Given the description of an element on the screen output the (x, y) to click on. 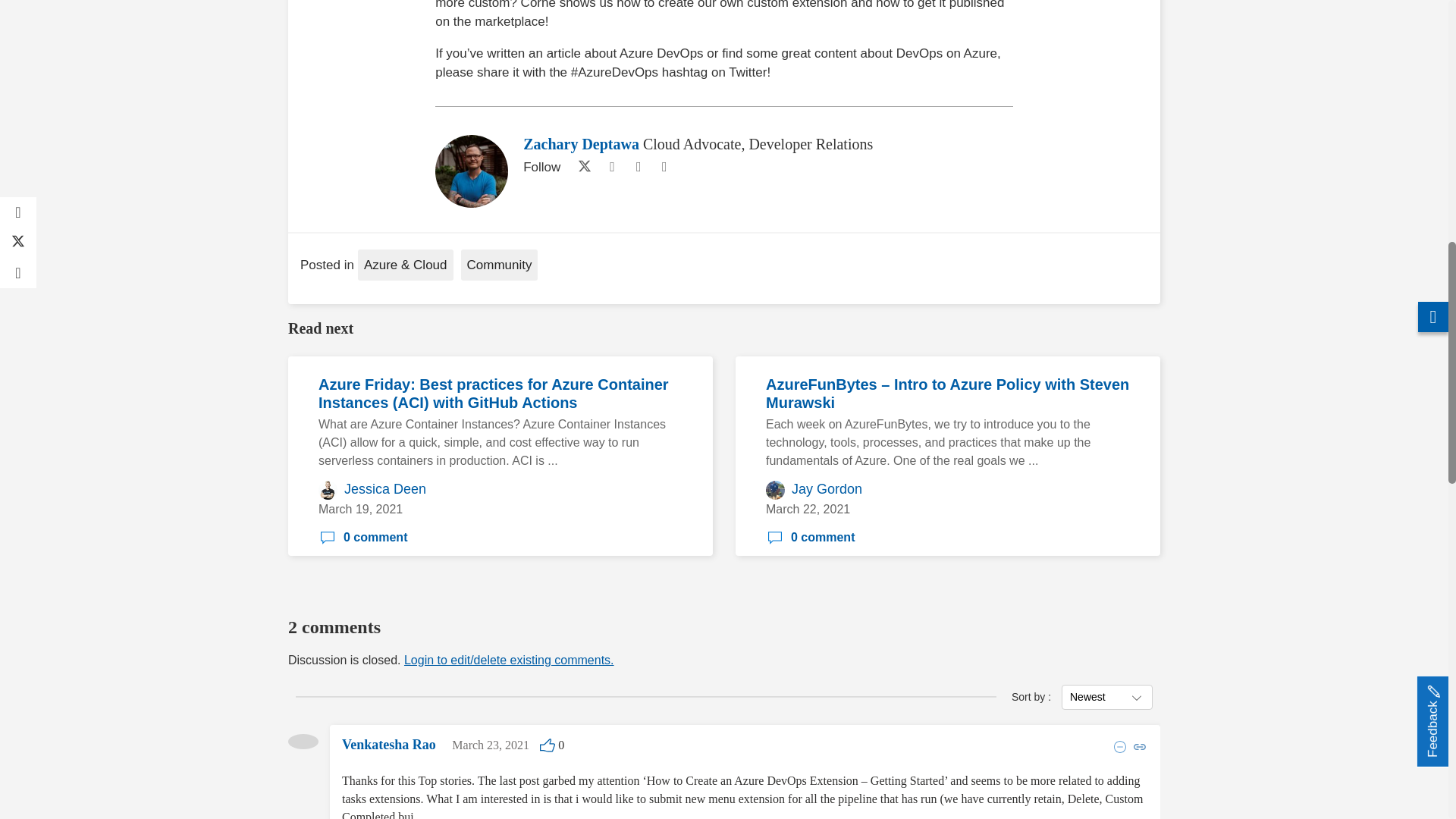
Linkedin (611, 167)
Twitter (581, 167)
RSS Feed (664, 167)
Github (637, 167)
